Given the description of an element on the screen output the (x, y) to click on. 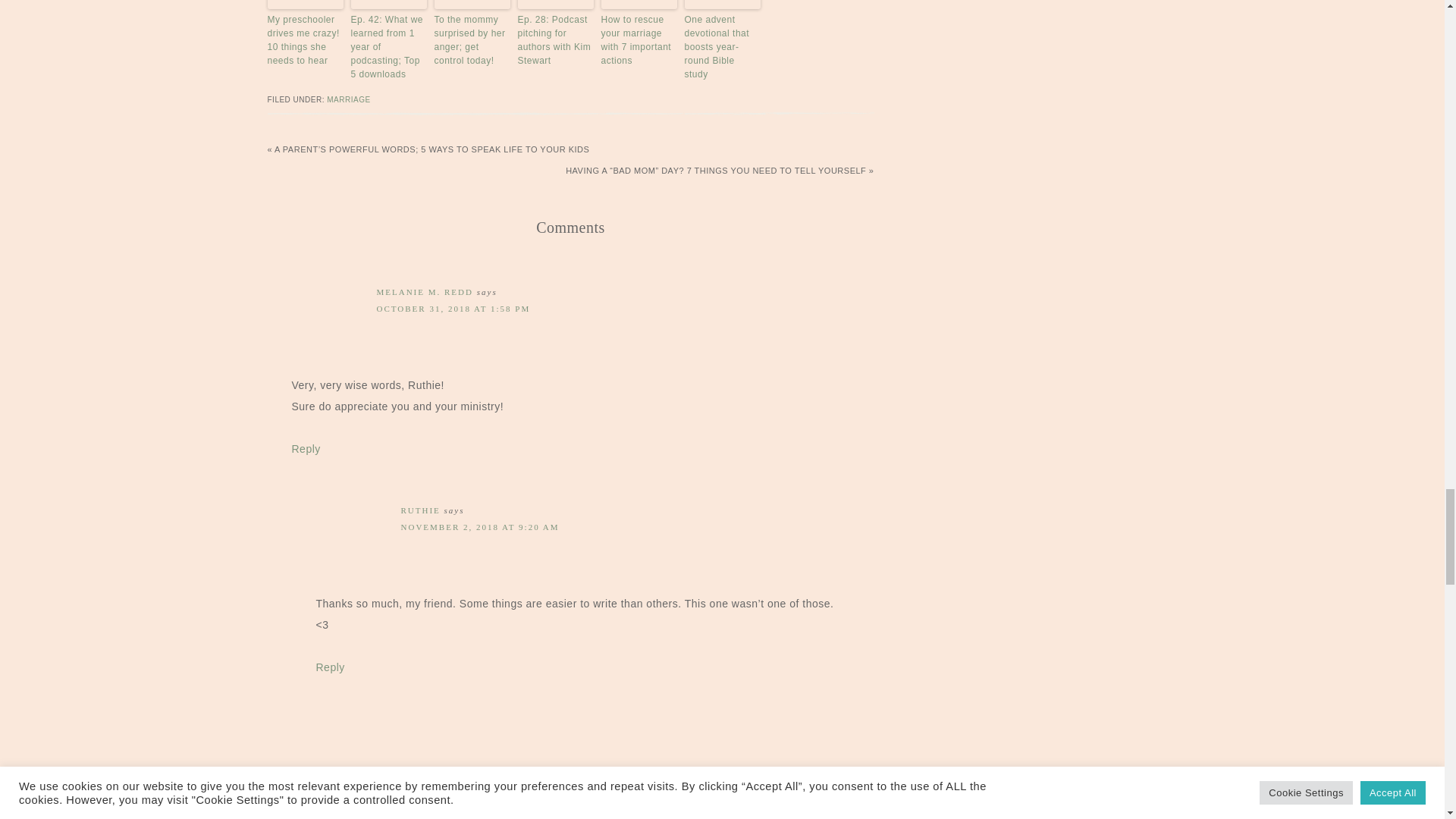
RUTHIE (419, 510)
To the mommy surprised by her anger; get control today! (471, 40)
How to rescue your marriage with 7 important actions (638, 40)
Reply (305, 449)
NOVEMBER 4, 2018 AT 10:55 PM (456, 793)
MARRIAGE (347, 99)
DENISE RENAE (414, 777)
Reply (329, 666)
Ep. 28: Podcast pitching for authors with Kim Stewart (554, 40)
MELANIE M. REDD (423, 291)
